Given the description of an element on the screen output the (x, y) to click on. 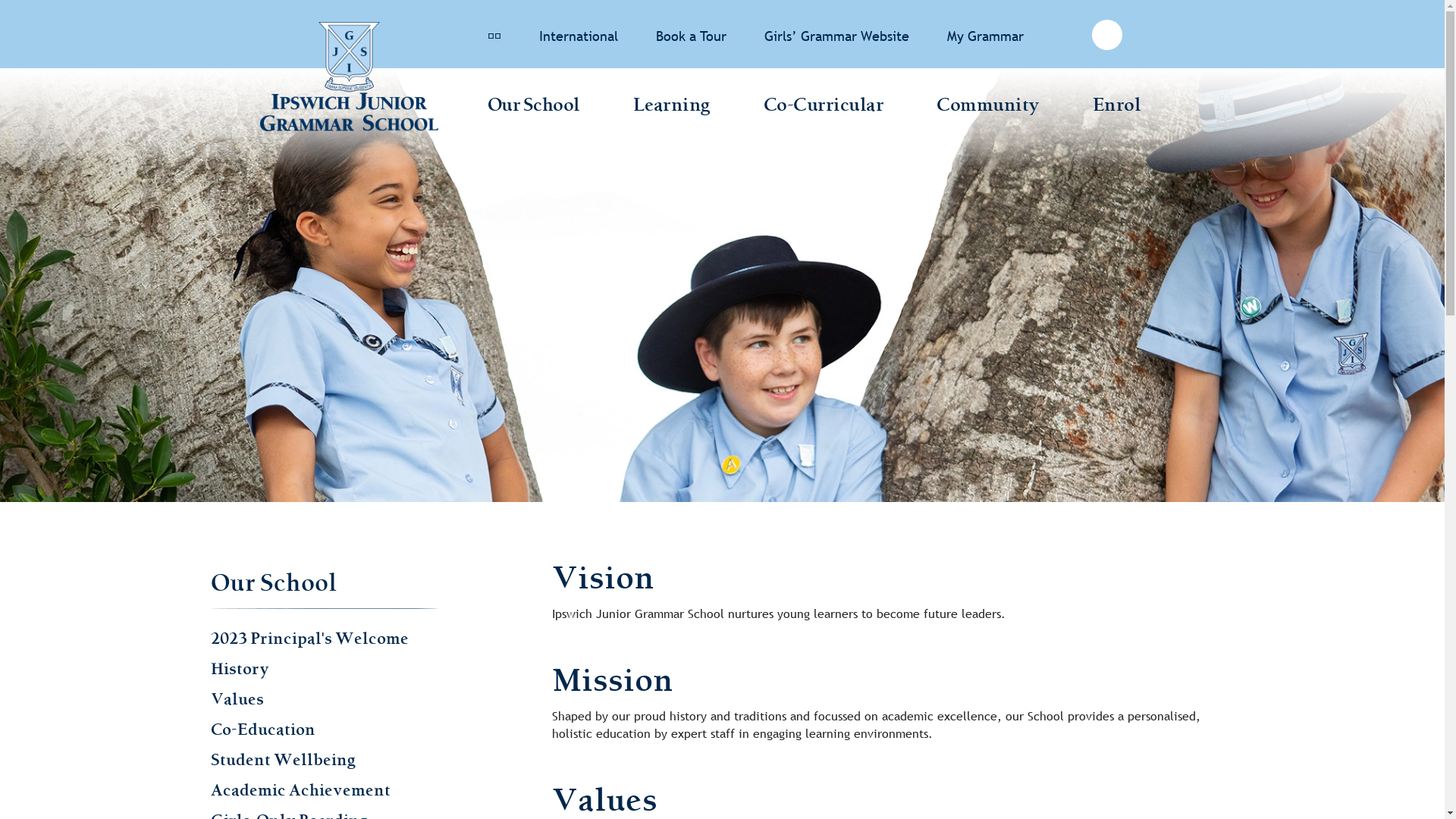
Book a Tour Element type: text (690, 35)
Our School Element type: text (273, 582)
Community Element type: text (987, 106)
Our School Element type: text (532, 106)
International Element type: text (577, 35)
Values Element type: text (236, 699)
Co-Education Element type: text (262, 729)
Student Wellbeing Element type: text (283, 759)
2023 Principal's Welcome Element type: text (309, 638)
Enrol Element type: text (1116, 106)
Co-Curricular Element type: text (822, 106)
Learning Element type: text (670, 106)
History Element type: text (239, 668)
Academic Achievement Element type: text (300, 790)
My Grammar Element type: text (984, 35)
